Given the description of an element on the screen output the (x, y) to click on. 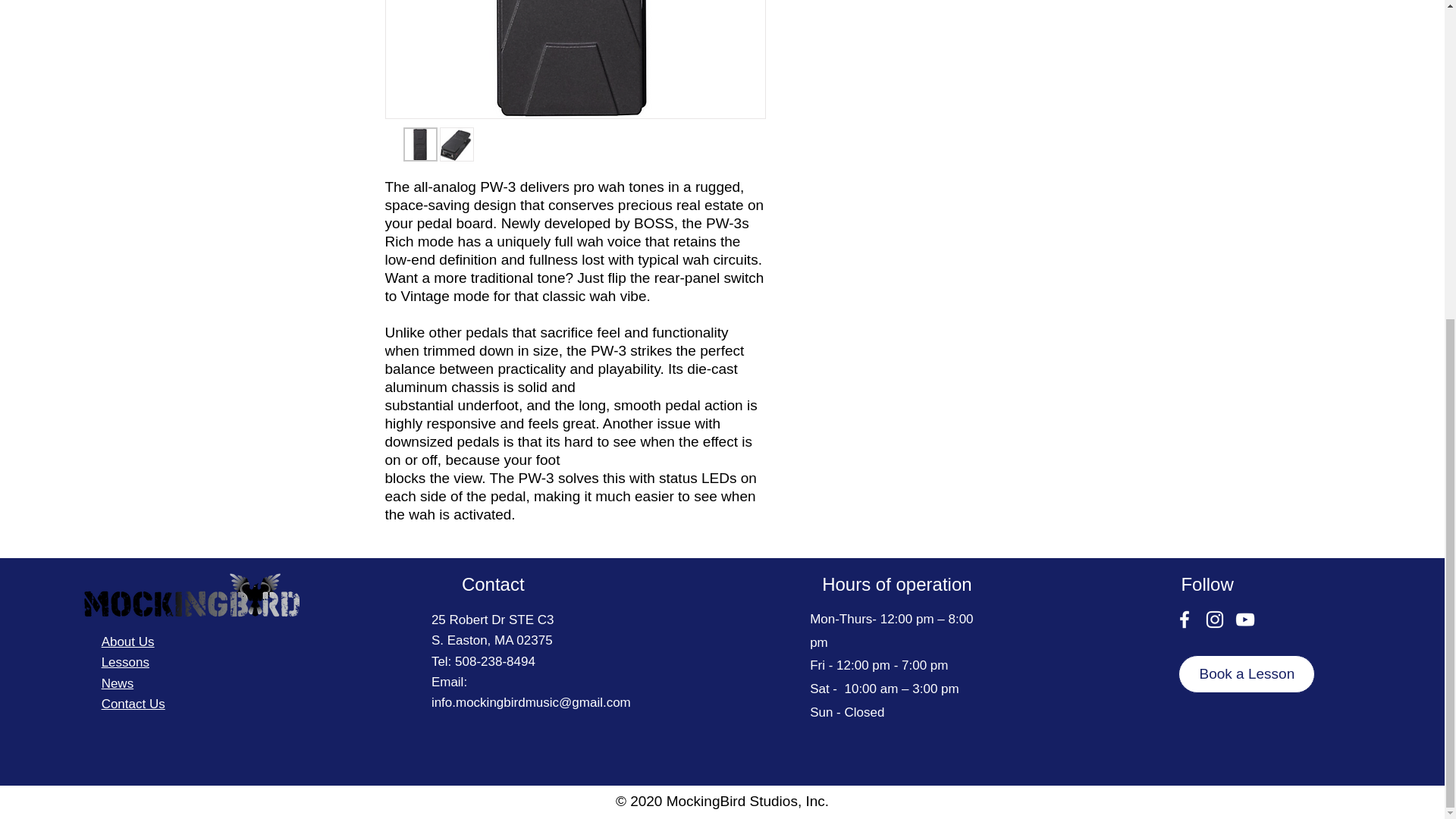
News (117, 683)
Contact Us (133, 703)
About Us (127, 641)
logo.webp (189, 594)
Lessons (125, 662)
Book a Lesson (1245, 673)
